Given the description of an element on the screen output the (x, y) to click on. 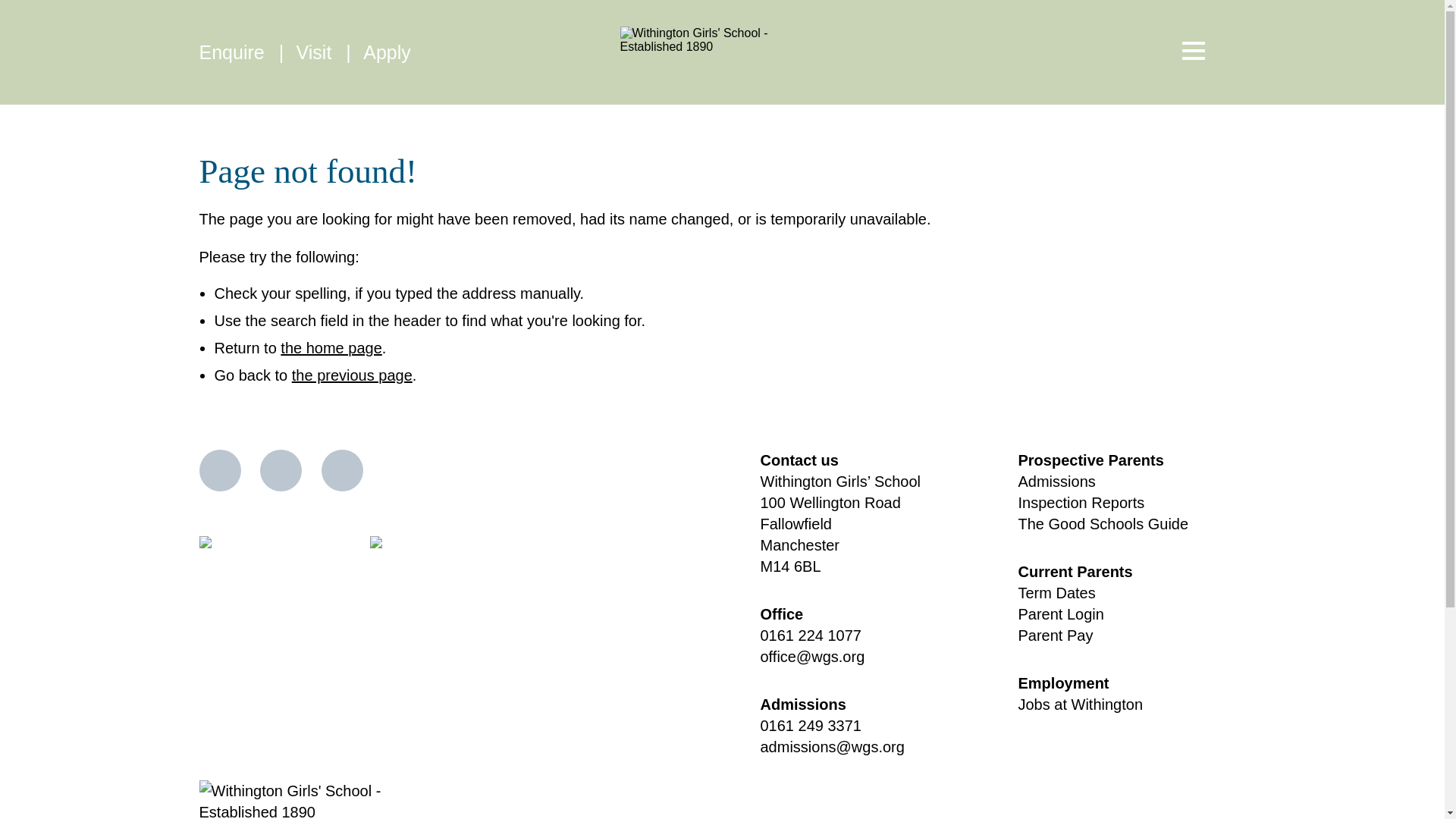
Visit (317, 51)
Visit (317, 51)
Apply (386, 51)
Apply (386, 51)
Enquire (233, 51)
Enquire (233, 51)
